Given the description of an element on the screen output the (x, y) to click on. 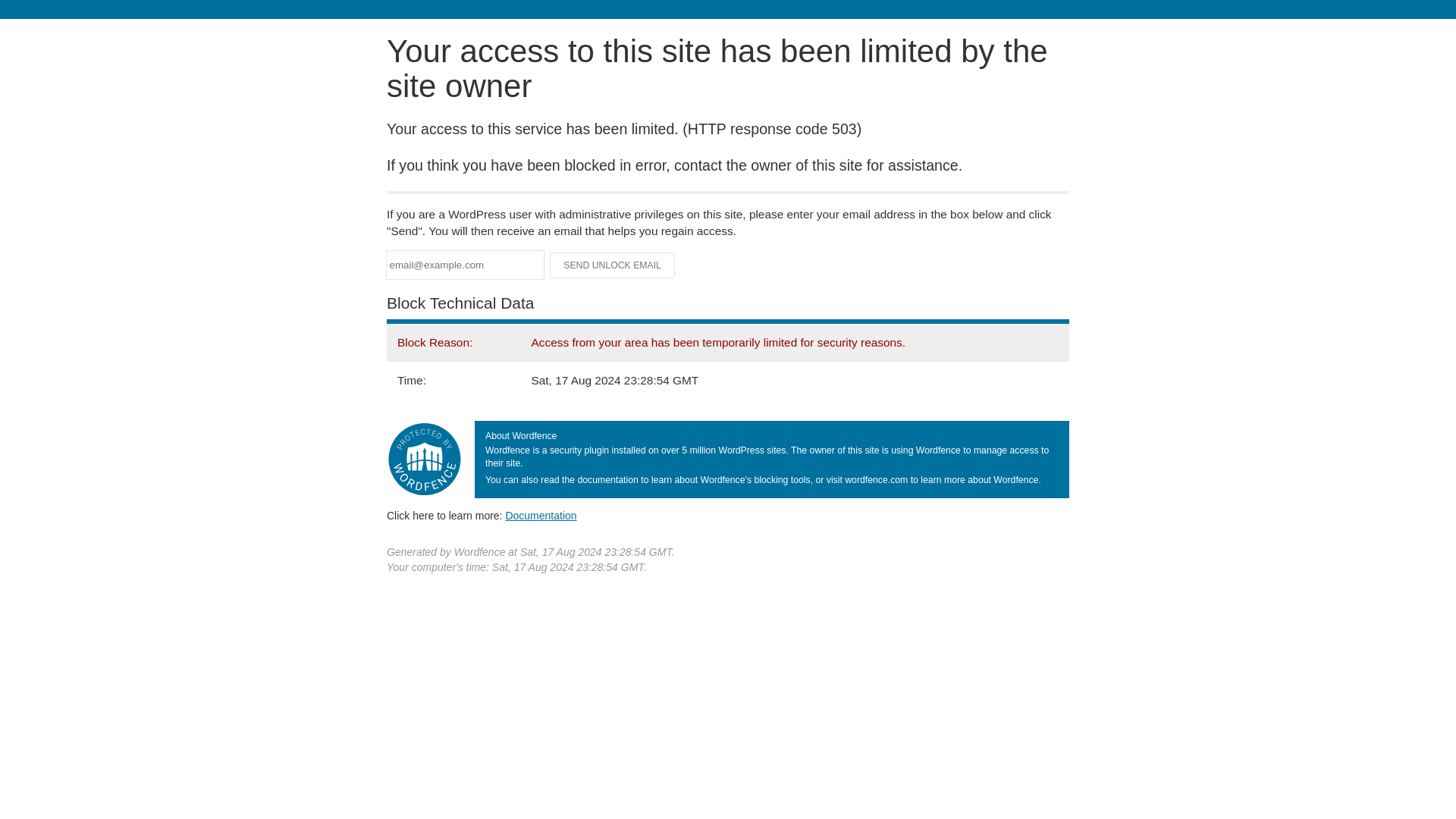
Documentation (540, 515)
Send Unlock Email (612, 265)
Send Unlock Email (612, 265)
